Given the description of an element on the screen output the (x, y) to click on. 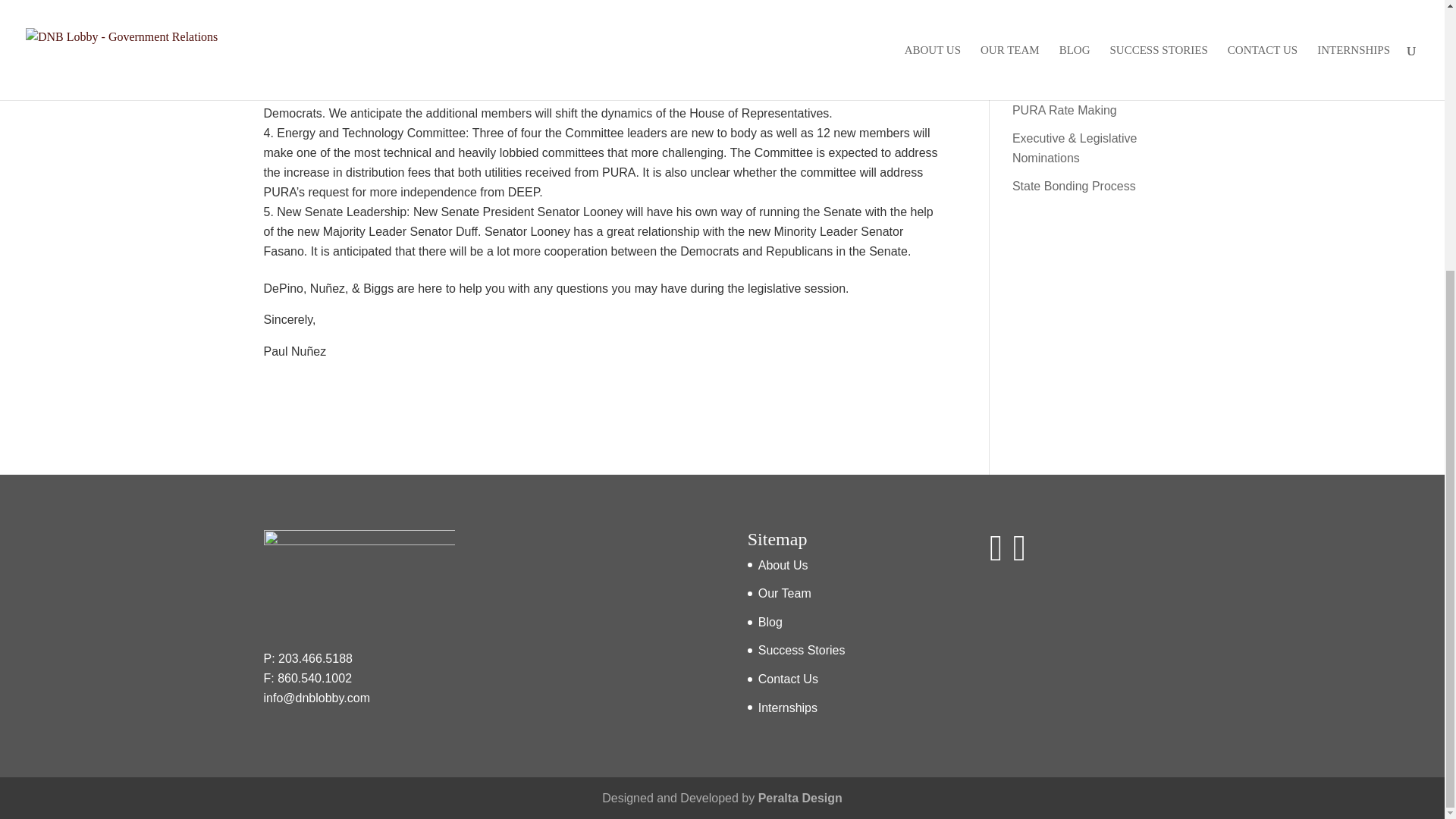
A look into the job of a Constituent Engagement Coordinator (1078, 61)
Our Team (784, 593)
About Us (783, 564)
Success Stories (801, 649)
Blog (770, 621)
Peralta Design (800, 797)
Internships (787, 707)
How State Political Parties Impact Elections (1082, 10)
PURA Rate Making (1063, 110)
State Bonding Process (1073, 185)
Contact Us (788, 678)
P: 203.466.5188 (307, 658)
